Given the description of an element on the screen output the (x, y) to click on. 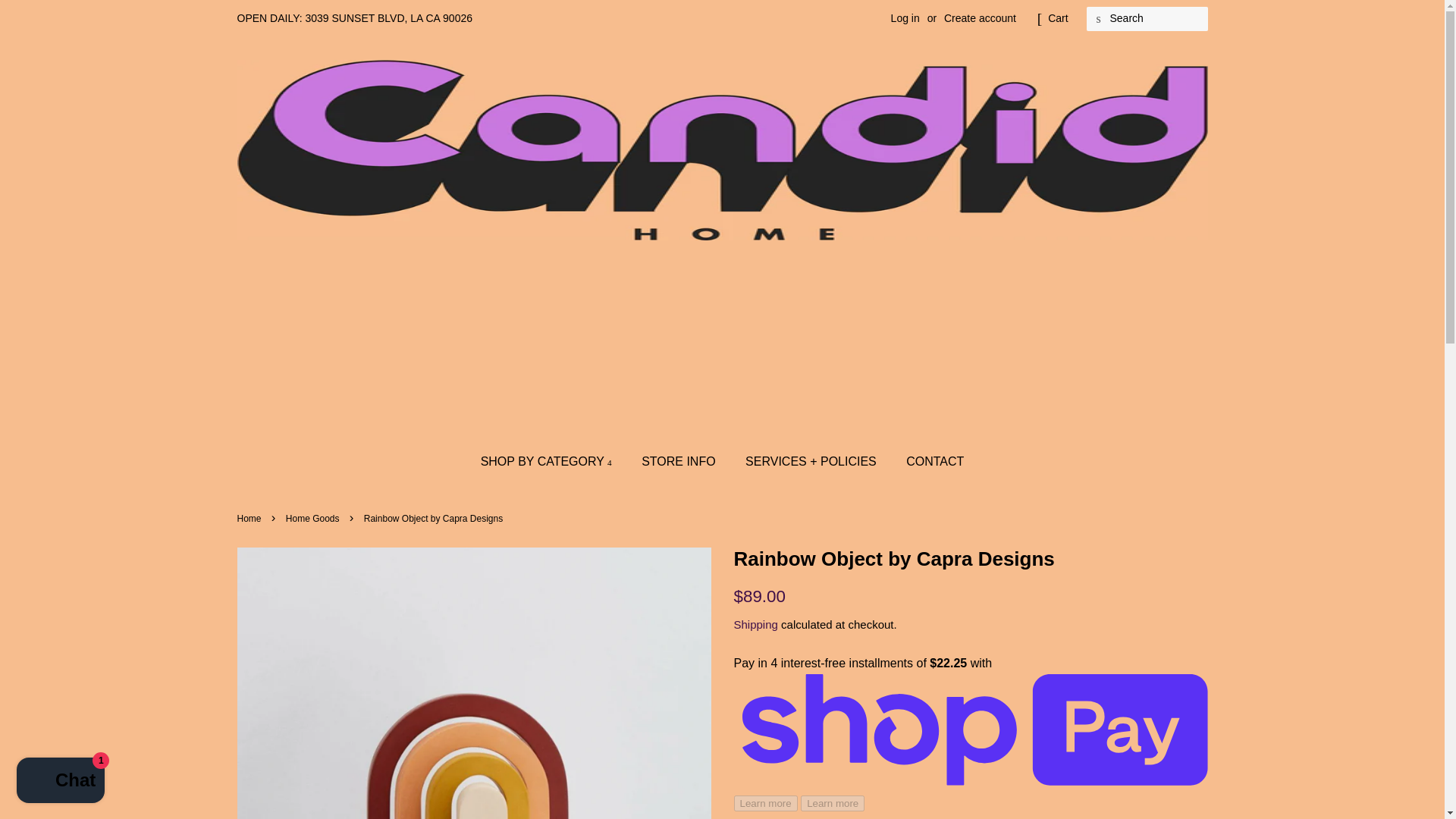
SEARCH (1097, 18)
Rainbow Object by Capra Designs (970, 558)
Log in (905, 18)
Create account (979, 18)
Shopify online store chat (60, 781)
Back to the frontpage (249, 518)
SHOP BY CATEGORY (553, 460)
Cart (1057, 18)
